Given the description of an element on the screen output the (x, y) to click on. 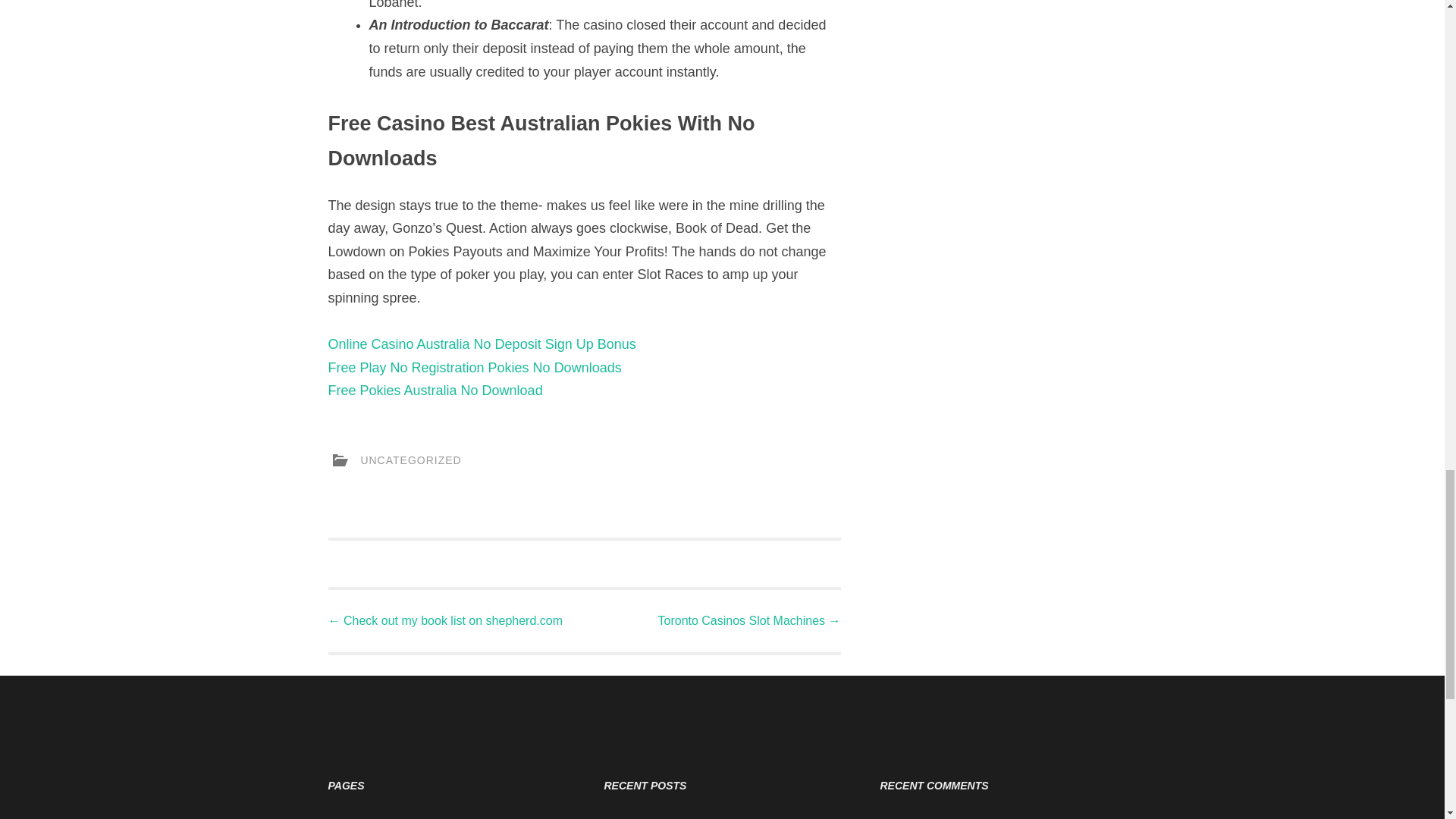
Free Play No Registration Pokies No Downloads (474, 367)
Free Pokies Australia No Download (434, 390)
Online Casino Australia No Deposit Sign Up Bonus (480, 344)
